Given the description of an element on the screen output the (x, y) to click on. 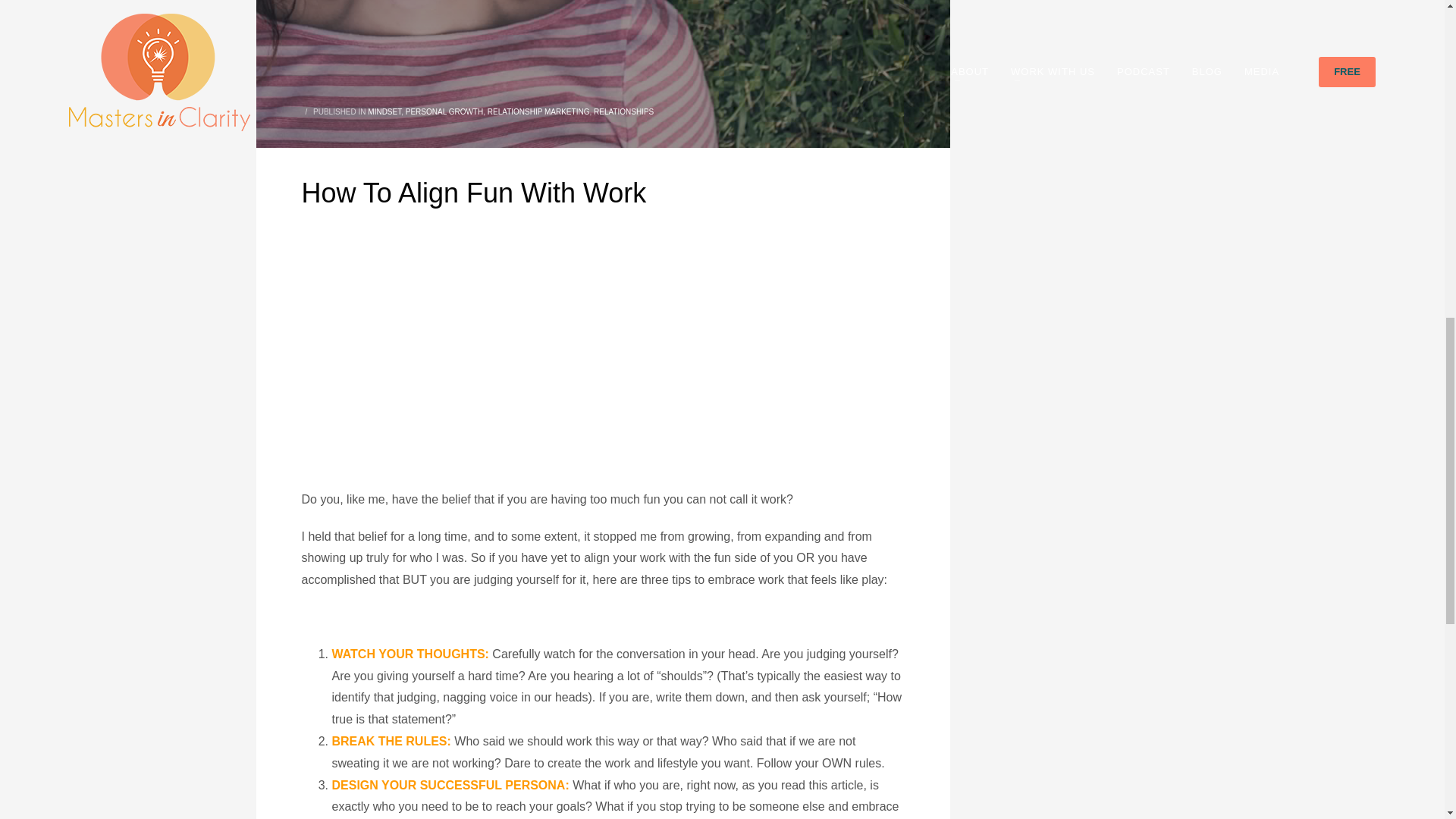
RELATIONSHIPS (623, 111)
RELATIONSHIP MARKETING (538, 111)
MINDSET (384, 111)
How To Align Fun With Work (603, 74)
PERSONAL GROWTH (444, 111)
